Given the description of an element on the screen output the (x, y) to click on. 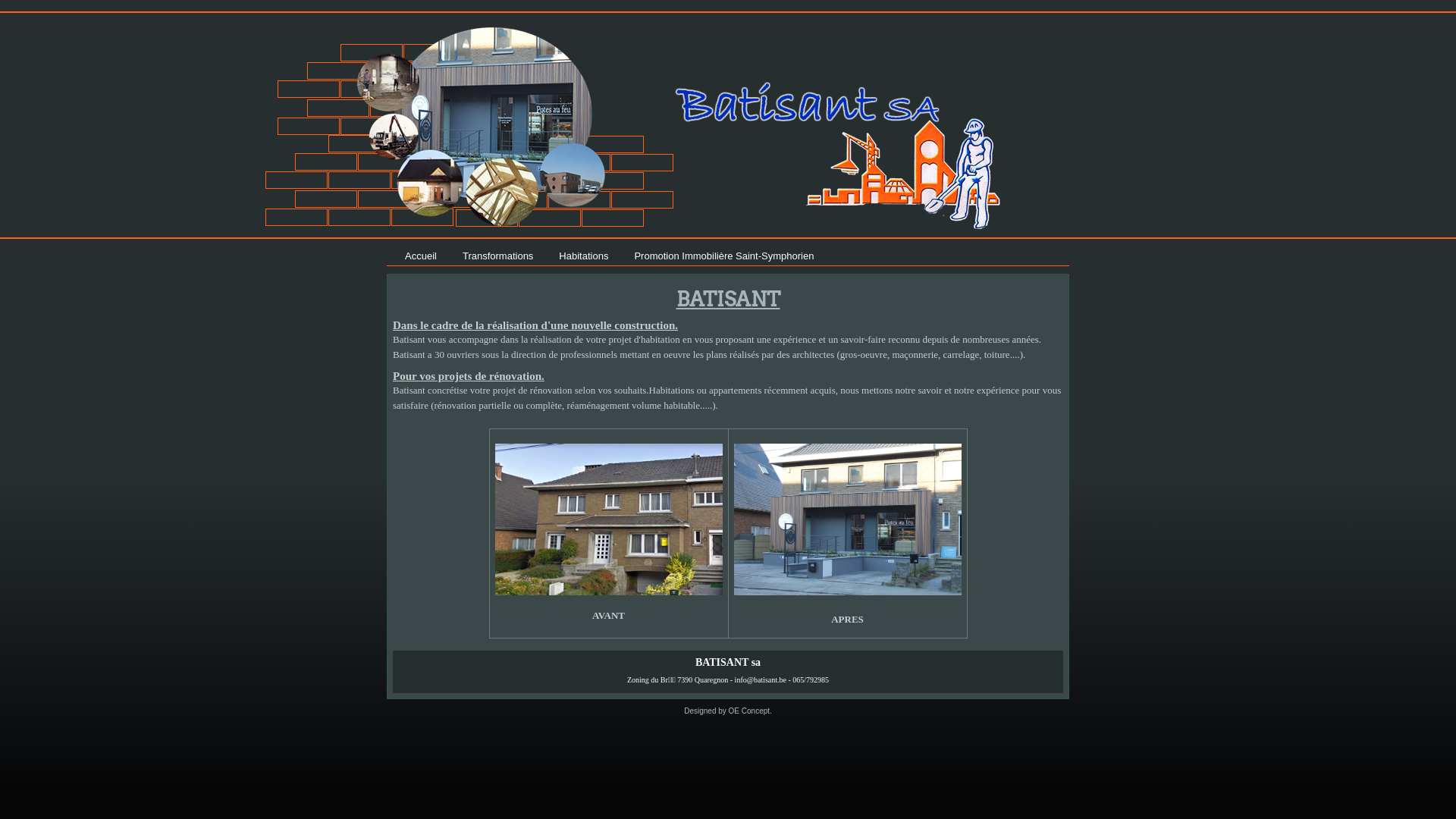
Habitations Element type: text (583, 255)
Potes au Feu avant travaux Element type: hover (608, 446)
Accueil Element type: text (420, 255)
Transformations Element type: text (497, 255)
